Given the description of an element on the screen output the (x, y) to click on. 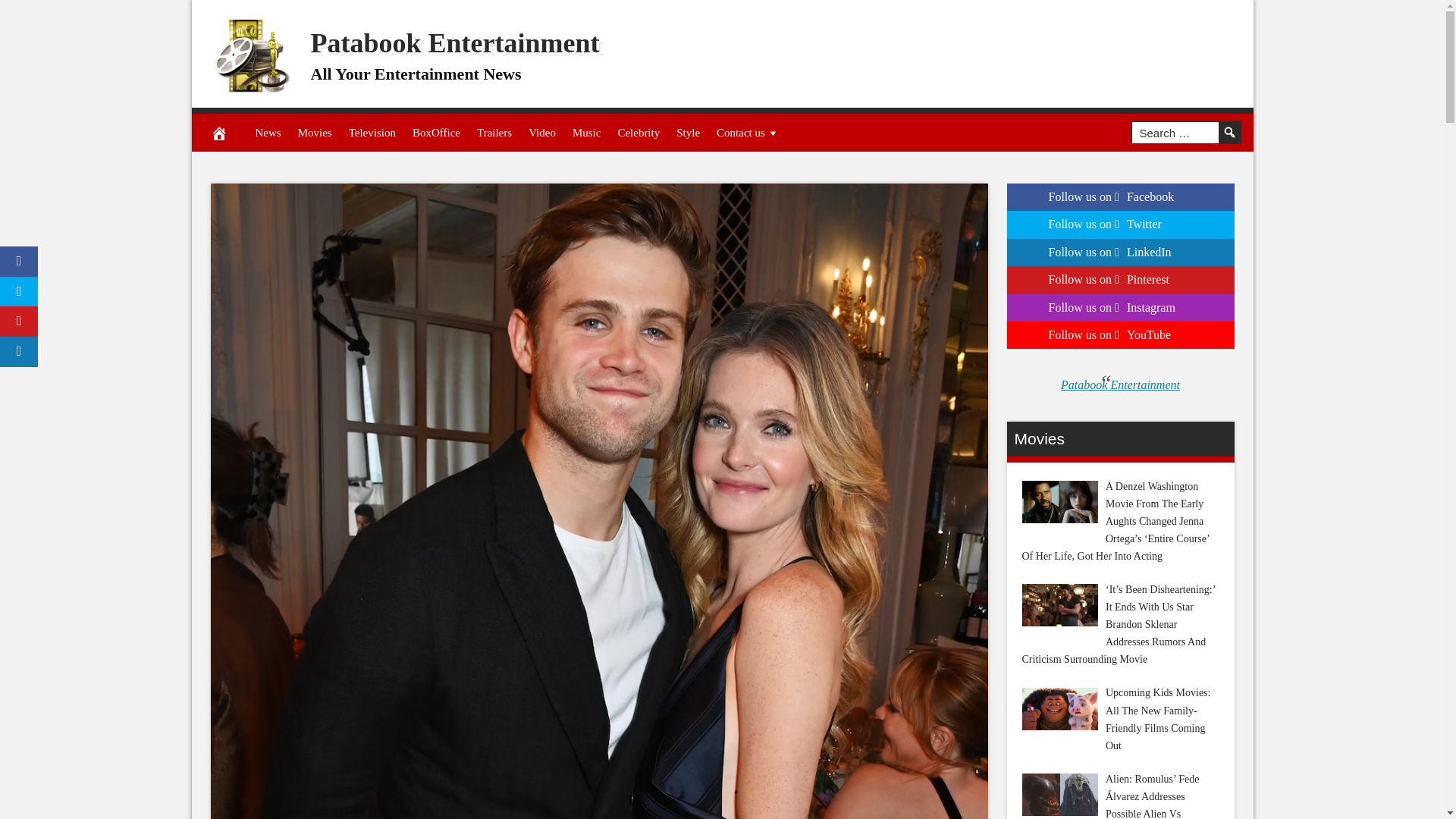
Style (687, 132)
Video (541, 132)
Contact us (747, 132)
Trailers (493, 132)
BoxOffice (436, 132)
Music (587, 132)
News (268, 132)
Movies (314, 132)
Television (372, 132)
